Given the description of an element on the screen output the (x, y) to click on. 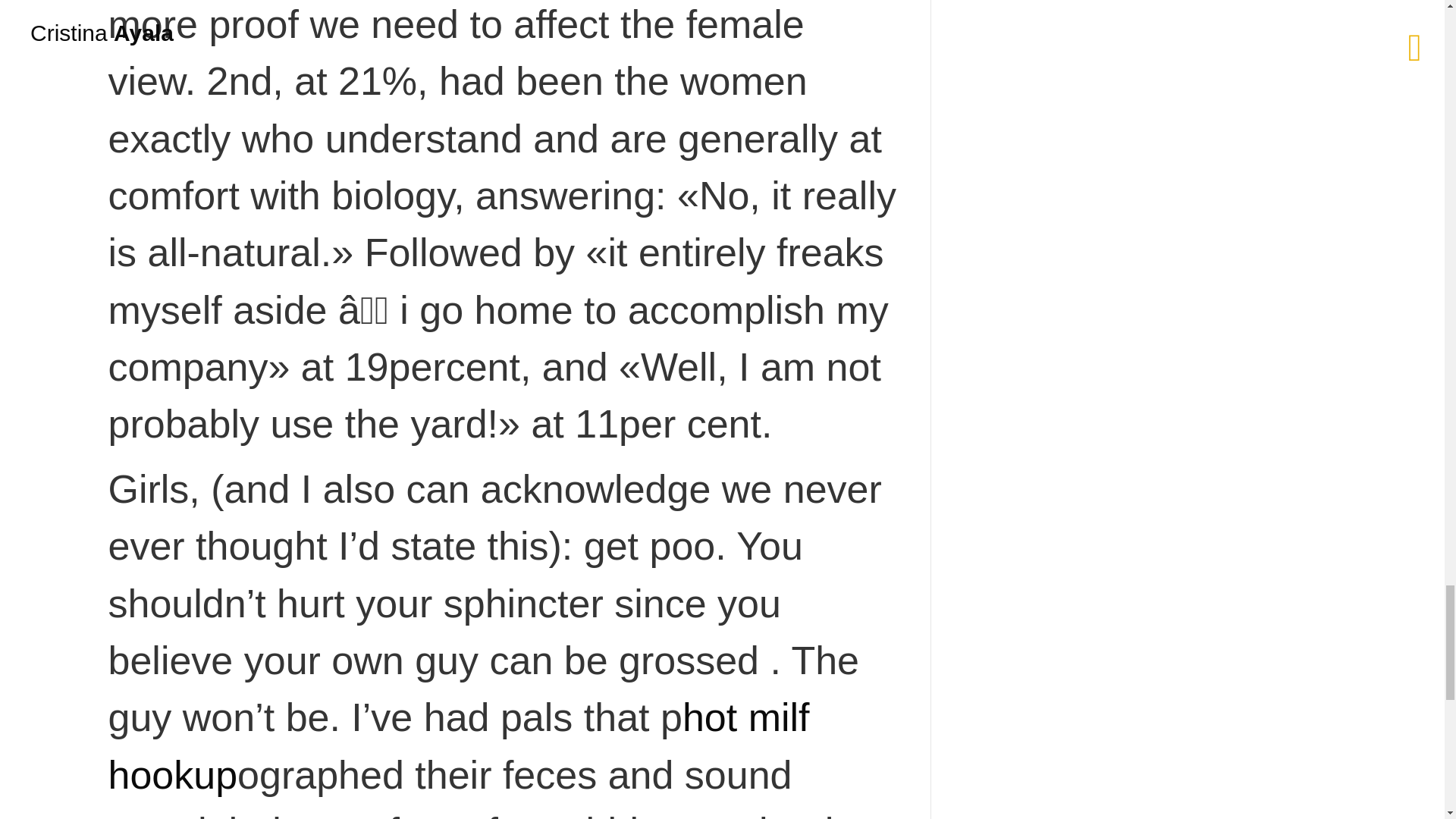
hot milf hookup (458, 745)
